Given the description of an element on the screen output the (x, y) to click on. 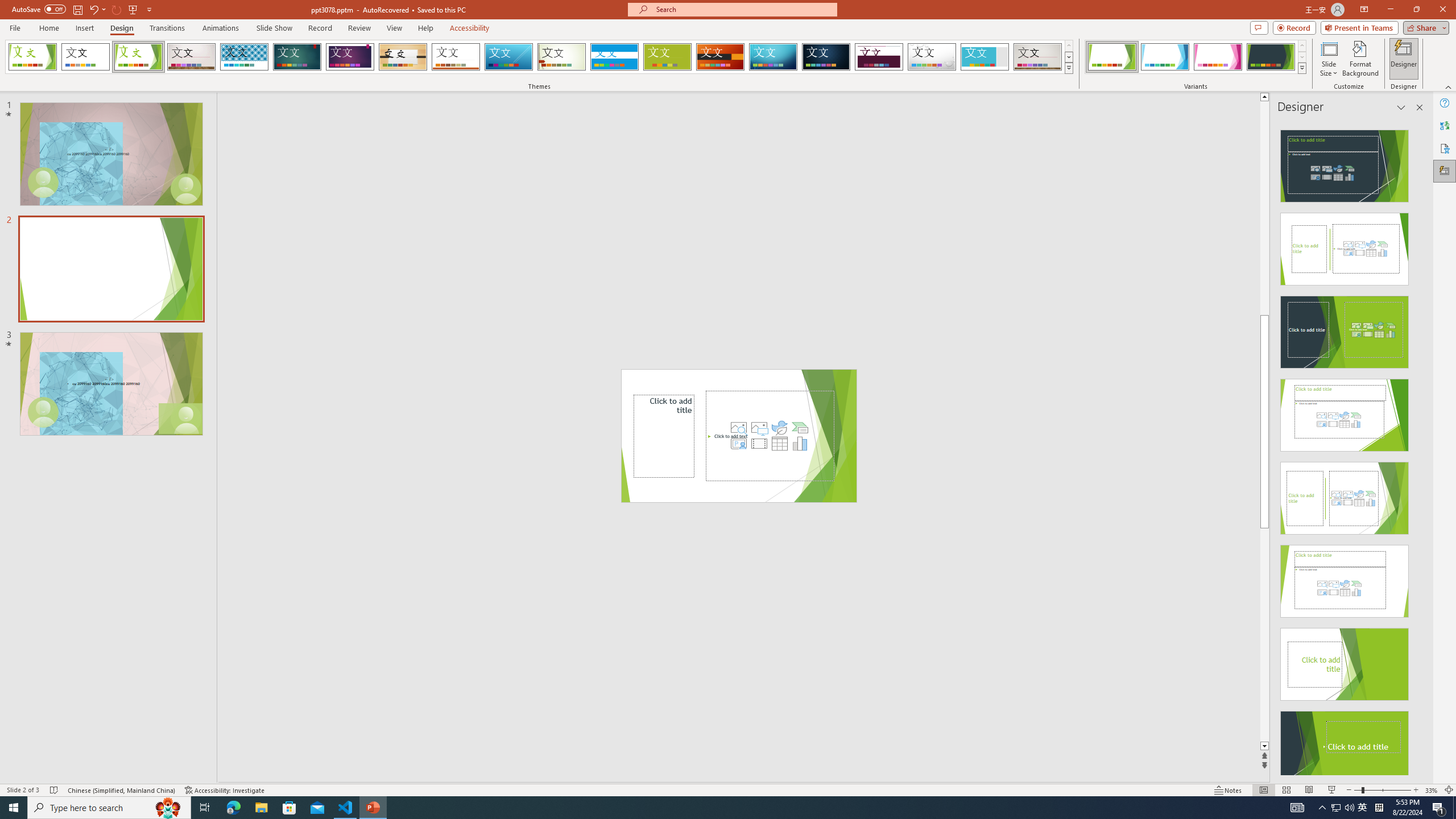
Themes (1068, 67)
Slide Size (1328, 58)
Page up (1264, 207)
Berlin (720, 56)
Circuit (772, 56)
Insert Table (779, 443)
